Given the description of an element on the screen output the (x, y) to click on. 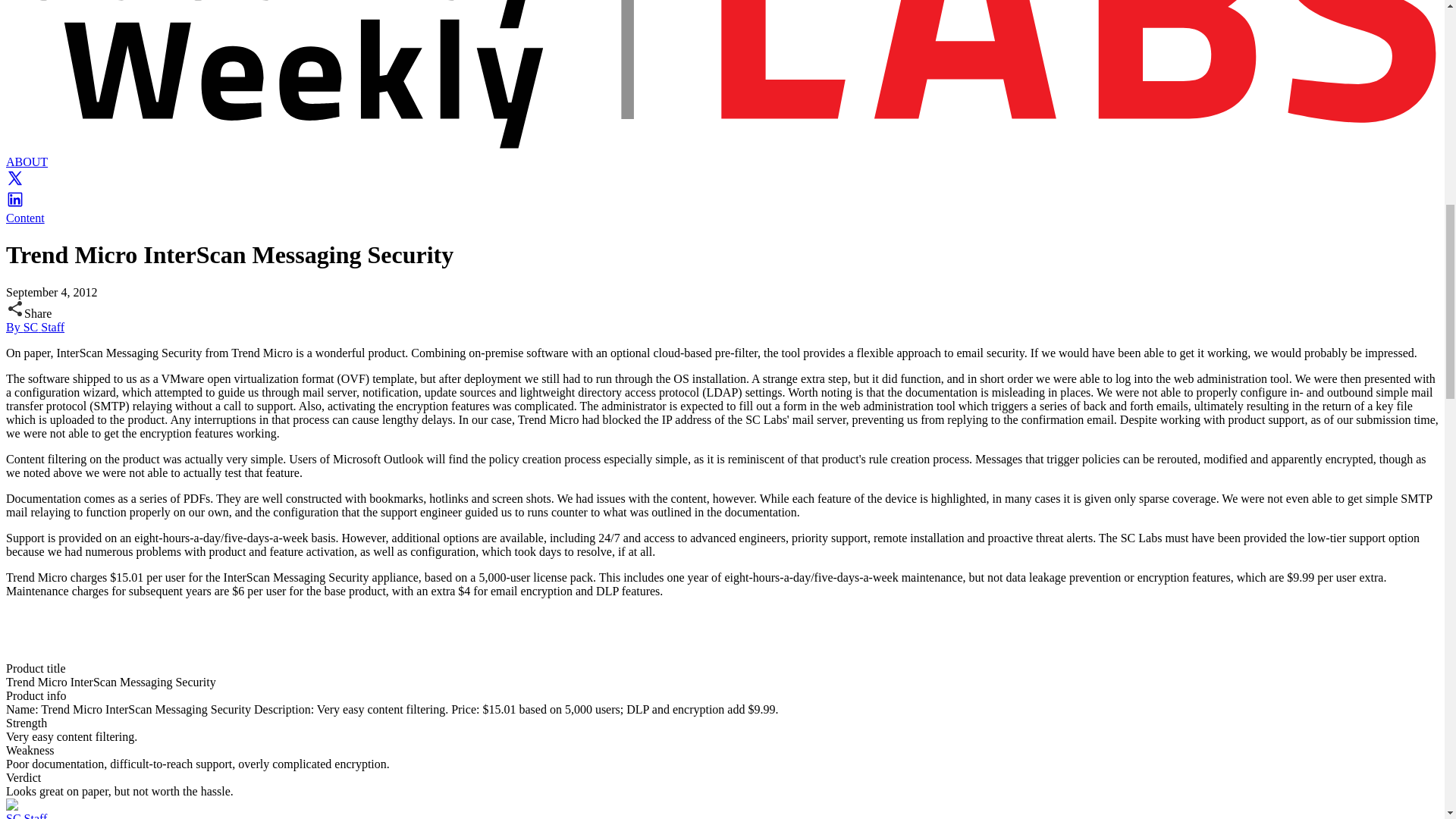
ABOUT (26, 161)
linkedin (14, 204)
By SC Staff (34, 327)
twitter (14, 182)
Content (25, 217)
SC Staff (25, 815)
